Given the description of an element on the screen output the (x, y) to click on. 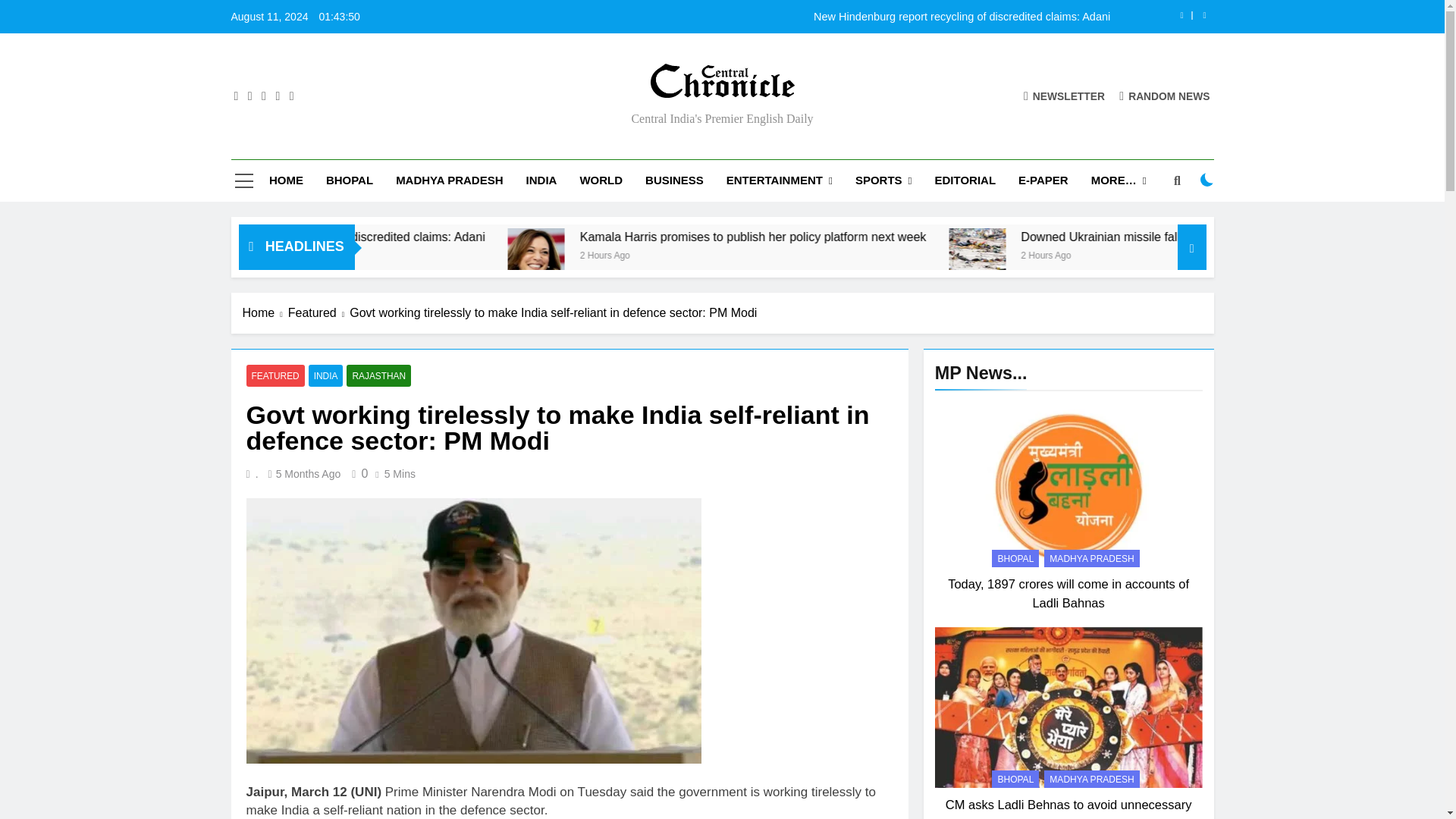
RANDOM NEWS (1164, 95)
NEWSLETTER (1064, 95)
HOME (285, 179)
New Hindenburg report recycling of discredited claims: Adani (817, 16)
New Hindenburg report recycling of discredited claims: Adani (482, 237)
BUSINESS (673, 179)
ENTERTAINMENT (779, 180)
WORLD (600, 179)
Central India'S Premier English Daily (560, 109)
